Given the description of an element on the screen output the (x, y) to click on. 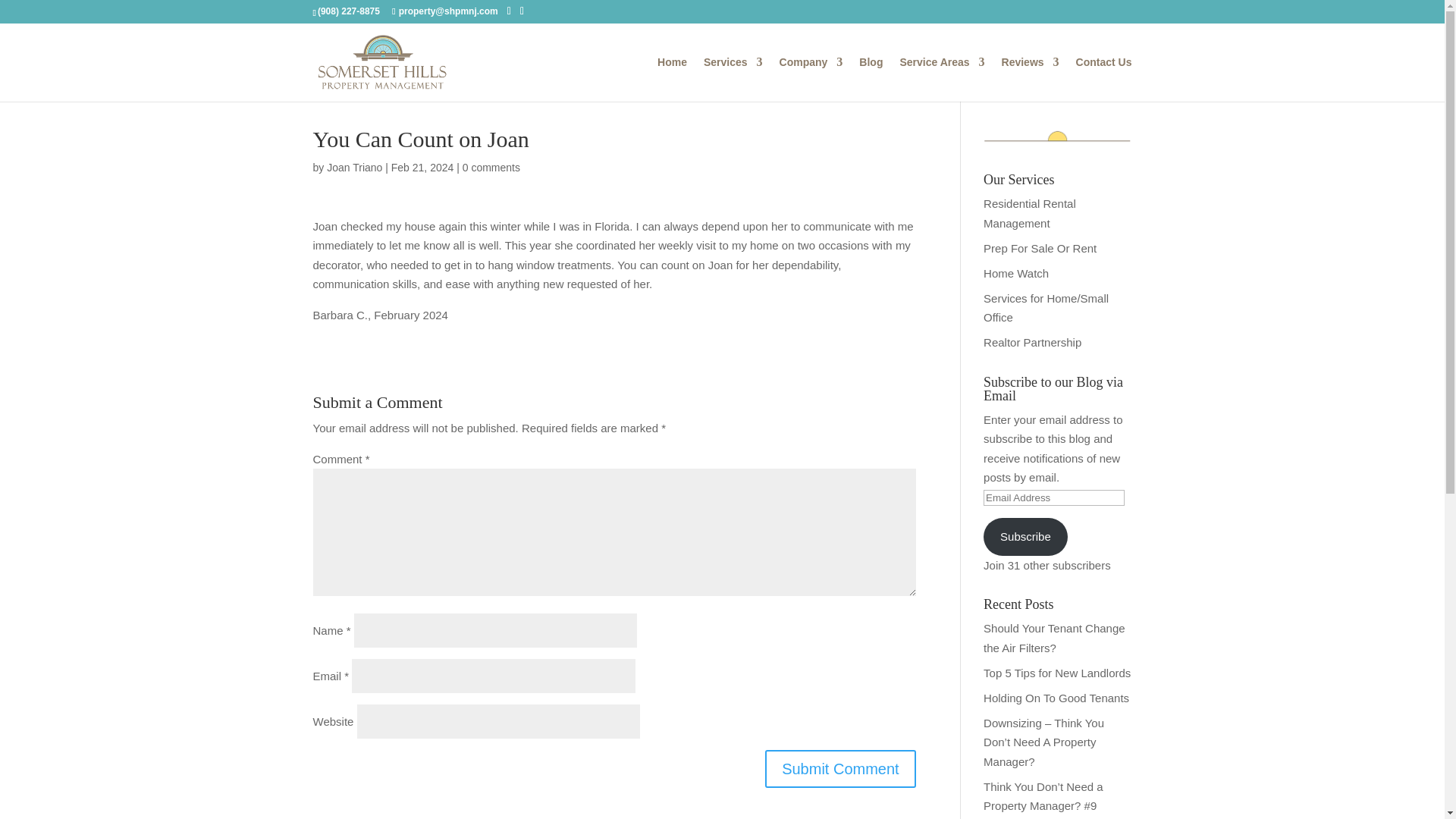
Submit Comment (840, 768)
Joan Triano (353, 167)
Company (810, 78)
Submit Comment (840, 768)
Services (732, 78)
Home Watch (1016, 273)
Residential Rental Management (1029, 213)
Subscribe (1025, 536)
Service Areas (941, 78)
0 comments (491, 167)
